Given the description of an element on the screen output the (x, y) to click on. 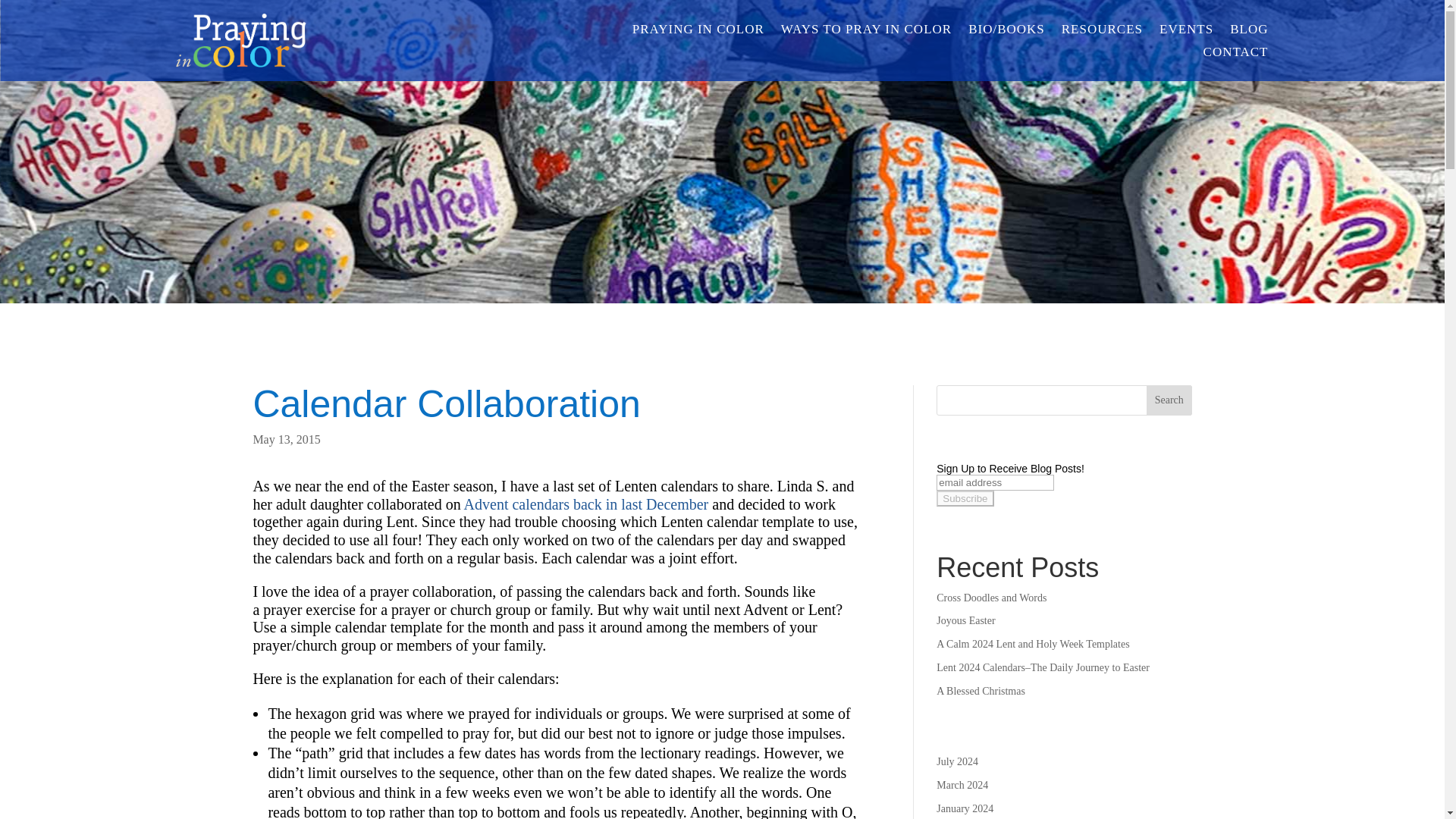
logo-praying-in-color-02 (240, 40)
CONTACT (1236, 54)
Advent calendars back in last December (586, 504)
Search (1169, 399)
EVENTS (1185, 32)
PRAYING IN COLOR (697, 32)
RESOURCES (1101, 32)
BLOG (1249, 32)
WAYS TO PRAY IN COLOR (866, 32)
Subscribe (964, 498)
